Given the description of an element on the screen output the (x, y) to click on. 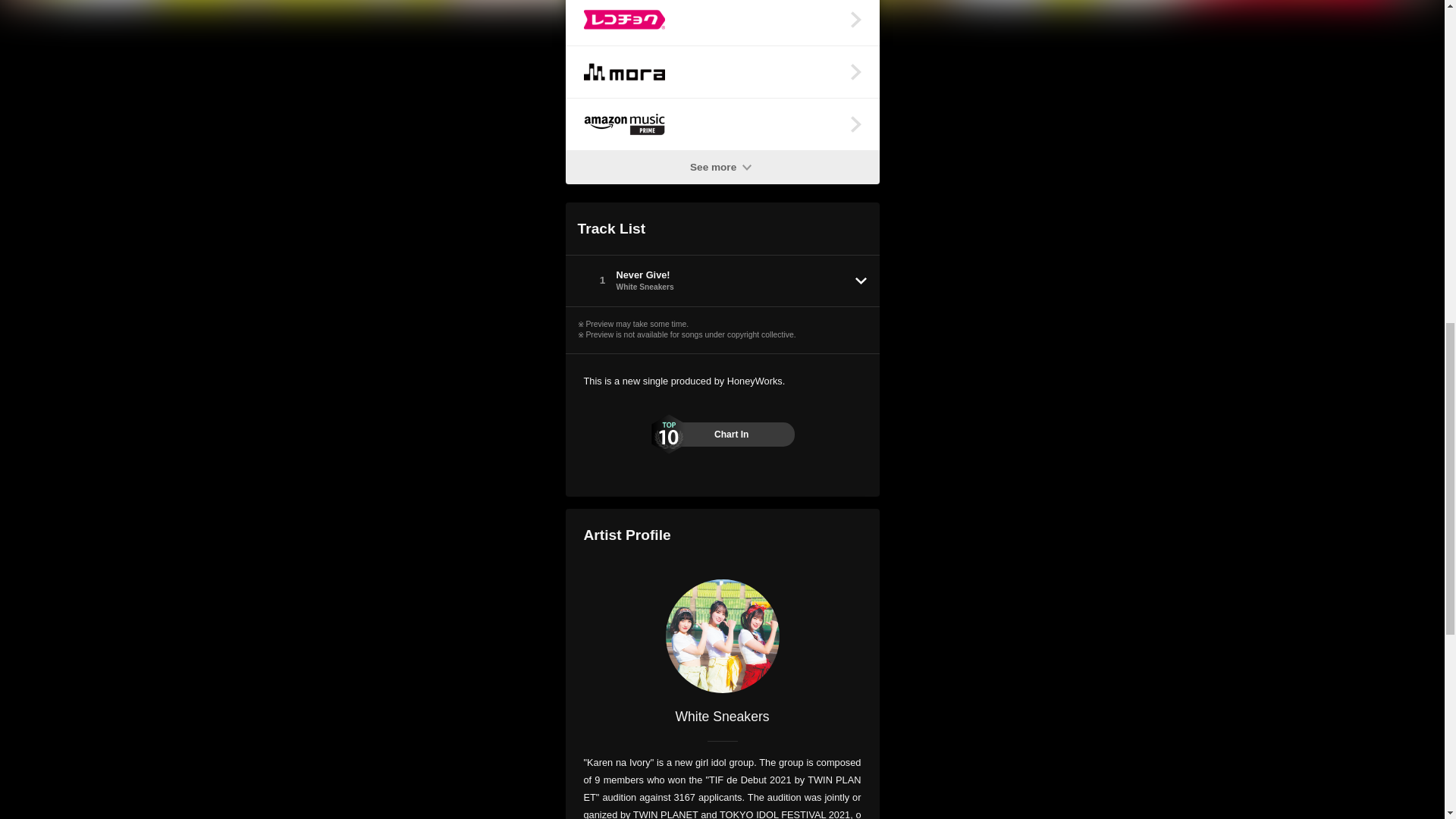
Available on recochoku (722, 22)
Available on Prime Music (722, 123)
Available on mora (722, 71)
